Given the description of an element on the screen output the (x, y) to click on. 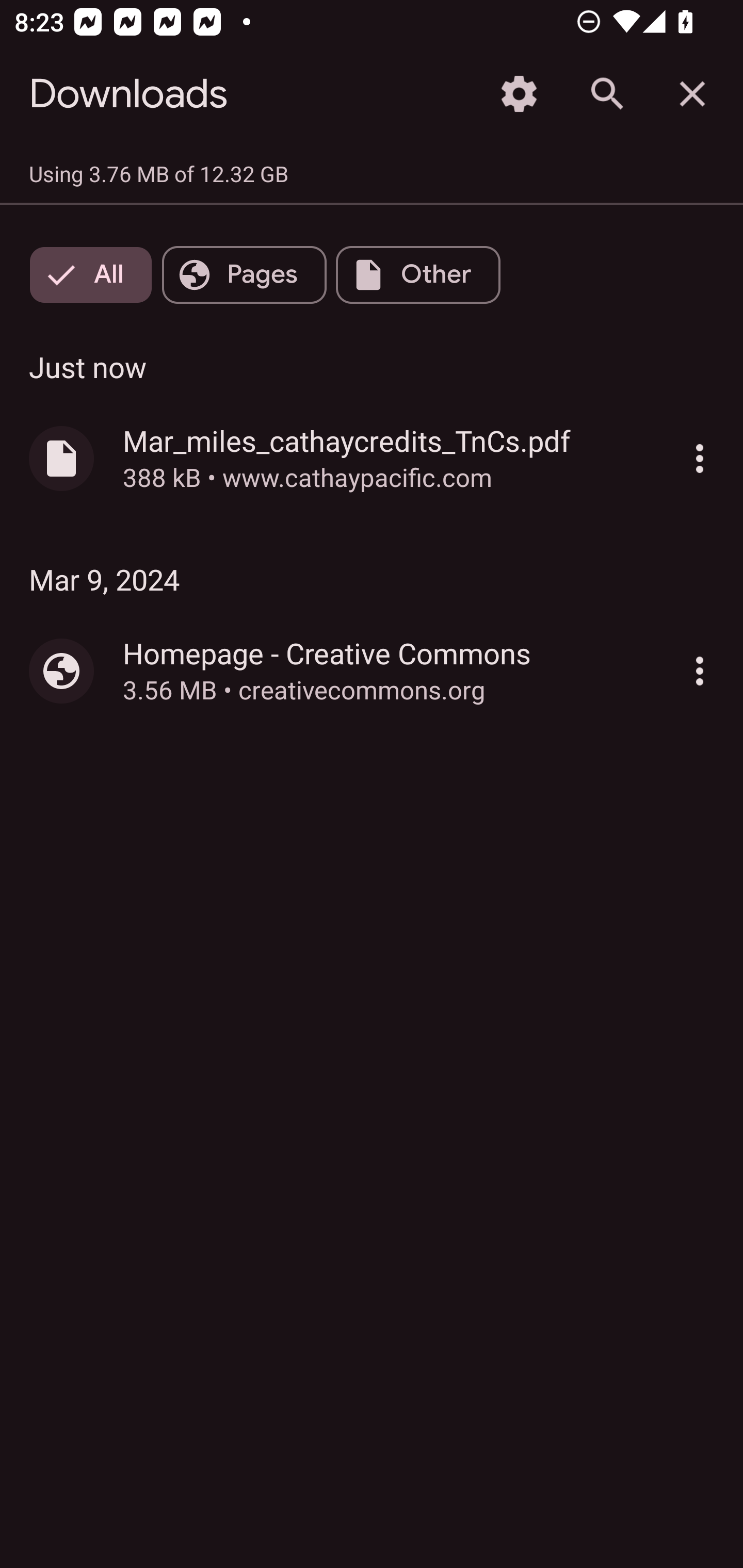
Settings (518, 93)
Search (605, 93)
Close (692, 93)
All All files, 2 files in list (90, 275)
Pages Pages, 1 page in list (243, 275)
Other Other 1 file in list (417, 275)
Customize and control Google Chrome (699, 458)
Customize and control Google Chrome (699, 671)
